Given the description of an element on the screen output the (x, y) to click on. 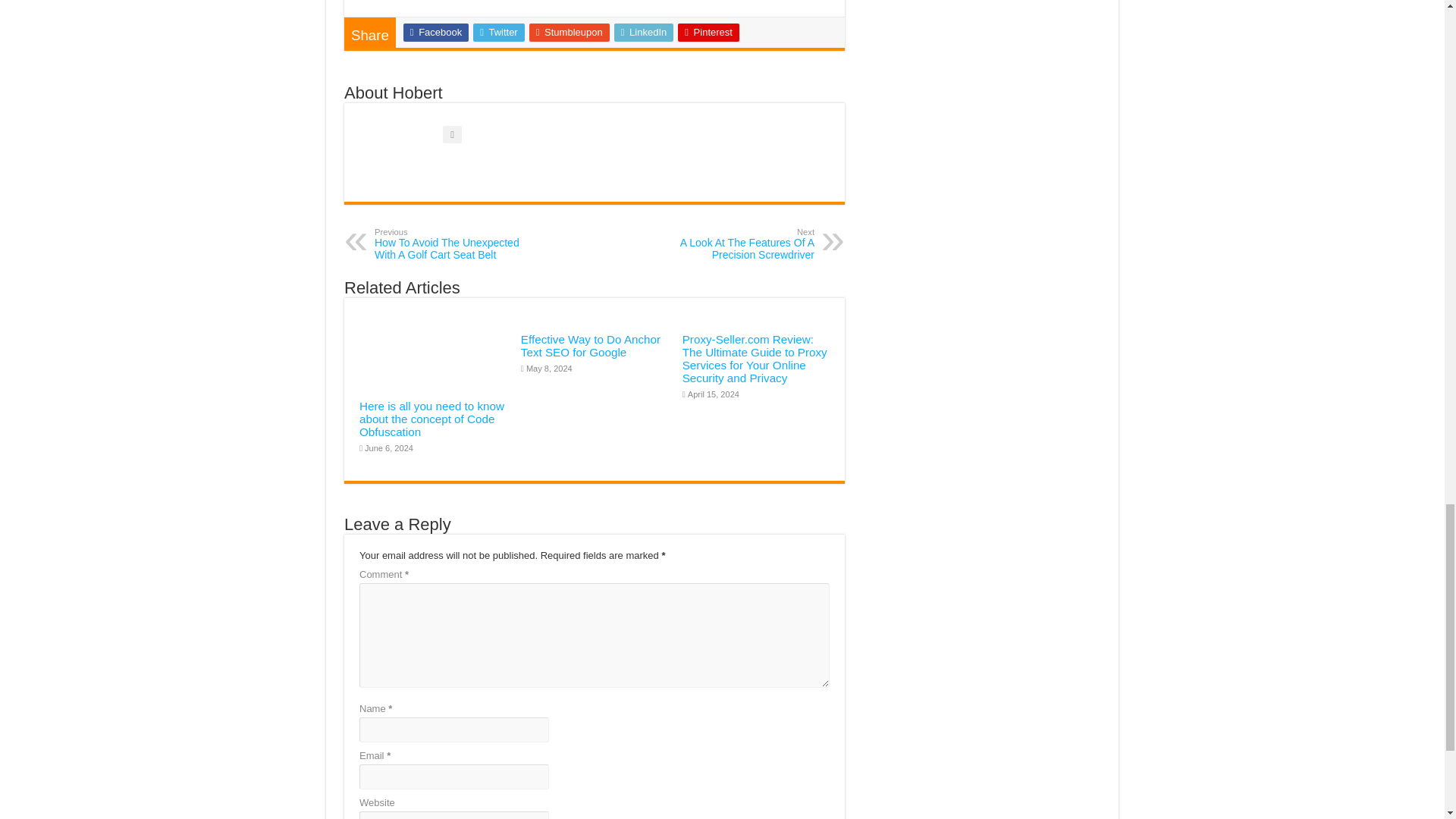
Effective Way to Do Anchor Text SEO for Google (591, 345)
Pinterest (708, 32)
Twitter (498, 32)
Facebook (435, 32)
LinkedIn (736, 244)
Stumbleupon (644, 32)
